Given the description of an element on the screen output the (x, y) to click on. 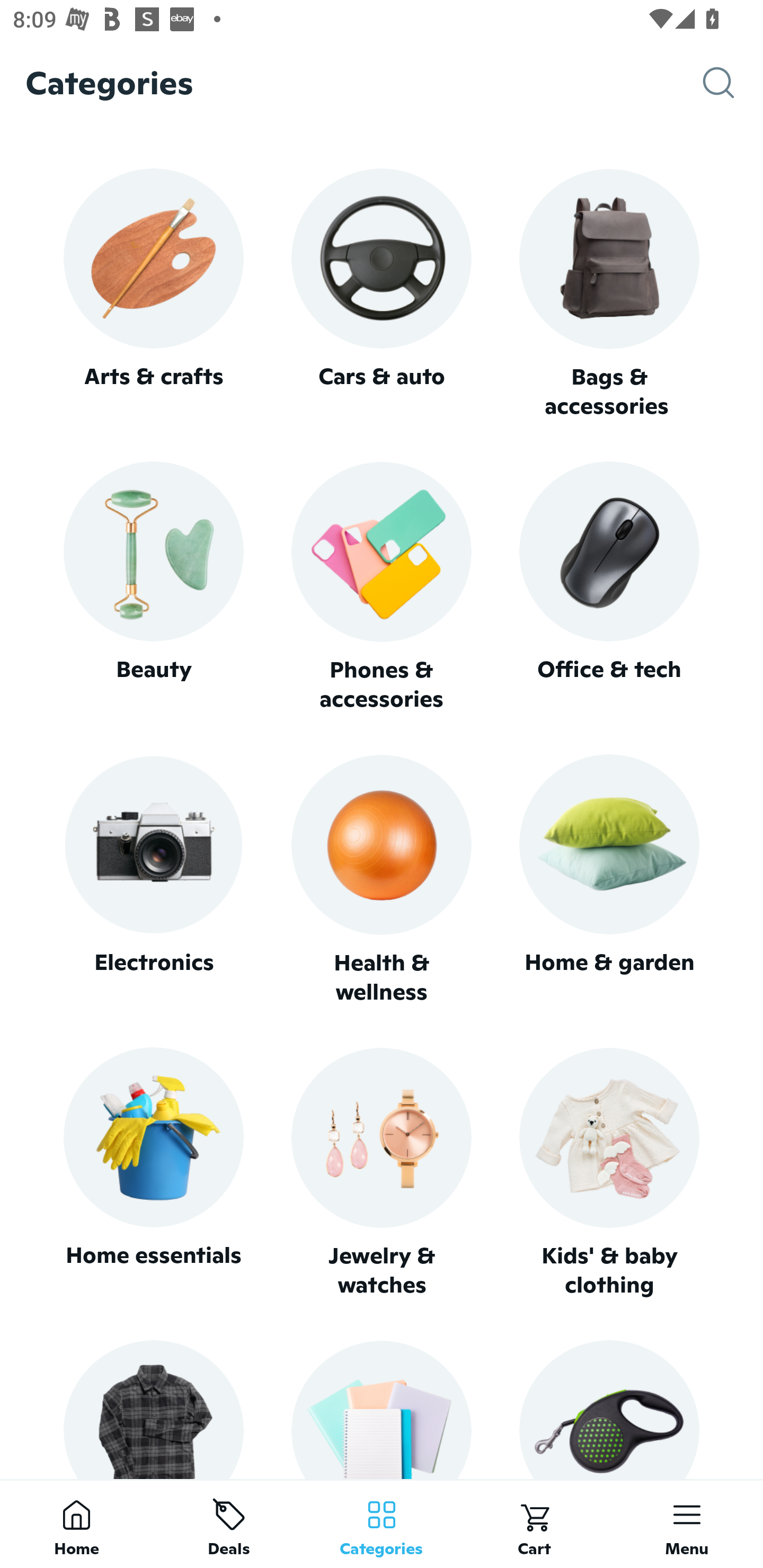
Search (732, 82)
Arts & crafts (153, 293)
Cars & auto (381, 293)
Bags & accessories  (609, 294)
Beauty (153, 586)
Office & tech (609, 586)
Phones & accessories (381, 587)
Electronics (153, 880)
Home & garden (609, 880)
Health & wellness (381, 880)
Home essentials (153, 1172)
Jewelry & watches (381, 1172)
Kids' & baby clothing (609, 1172)
Men's clothing (153, 1409)
Pet supplies (609, 1409)
Office & school supplies (381, 1409)
Home (76, 1523)
Deals (228, 1523)
Categories (381, 1523)
Cart (533, 1523)
Menu (686, 1523)
